Given the description of an element on the screen output the (x, y) to click on. 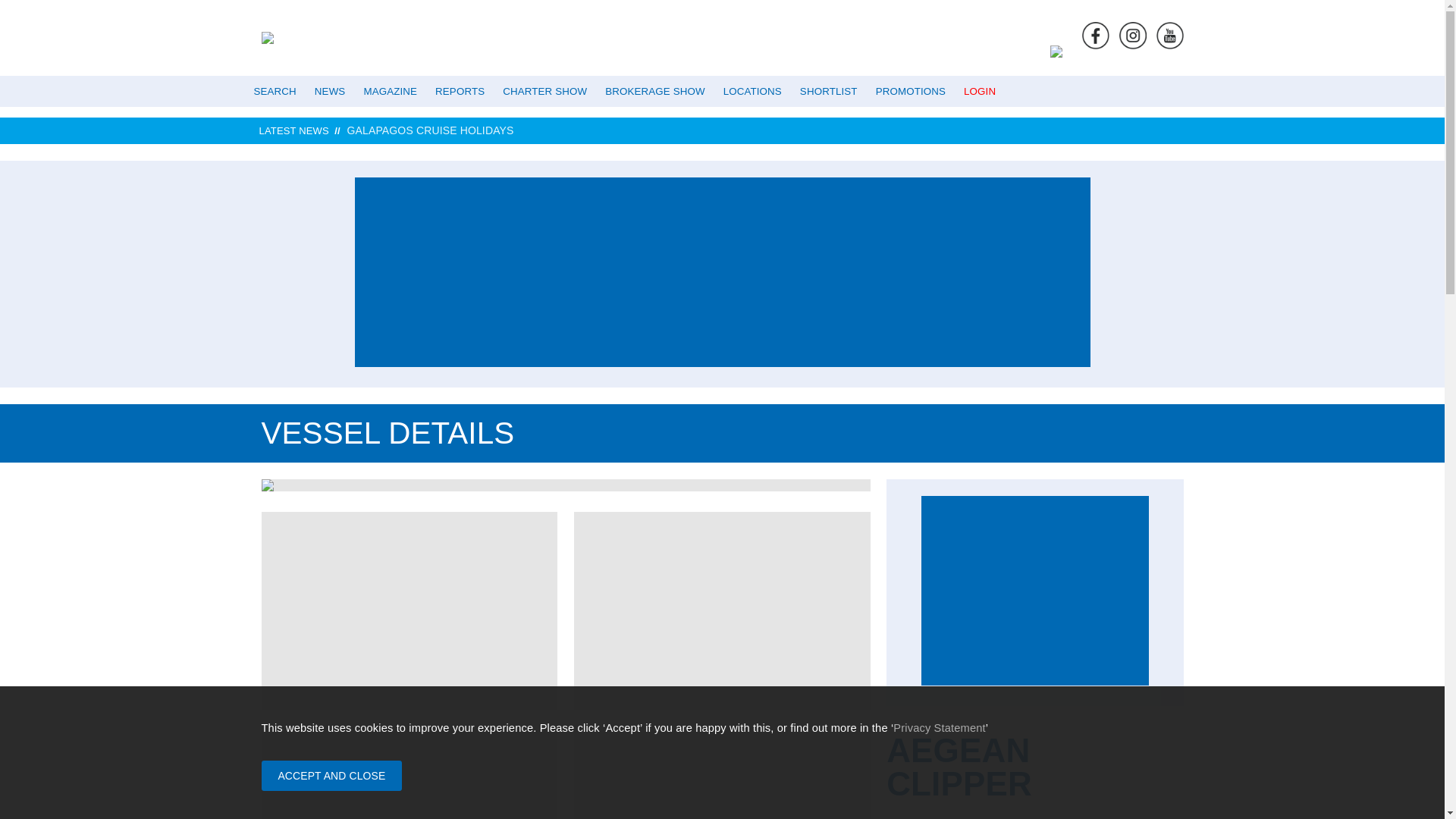
NEWS (330, 91)
CHARTER SHOW (544, 91)
GALAPAGOS CRUISE HOLIDAYS (771, 130)
BROKERAGE SHOW (654, 91)
LOGIN (979, 91)
SEARCH (274, 91)
SHORTLIST (828, 91)
REPORTS (459, 91)
MAGAZINE (389, 91)
LOCATIONS (752, 91)
PROMOTIONS (910, 91)
